Given the description of an element on the screen output the (x, y) to click on. 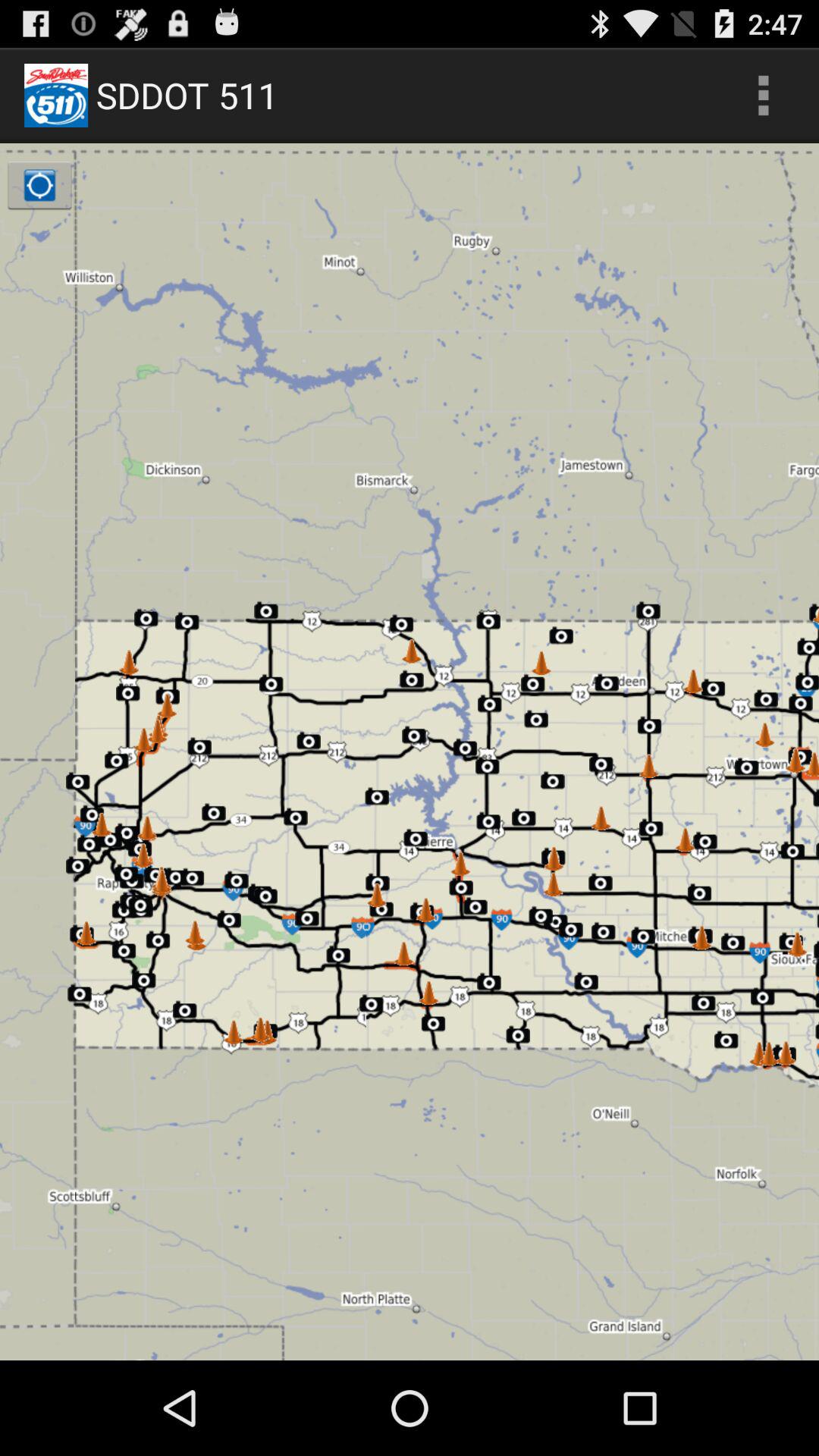
select the item next to the sddot 511 item (763, 95)
